Given the description of an element on the screen output the (x, y) to click on. 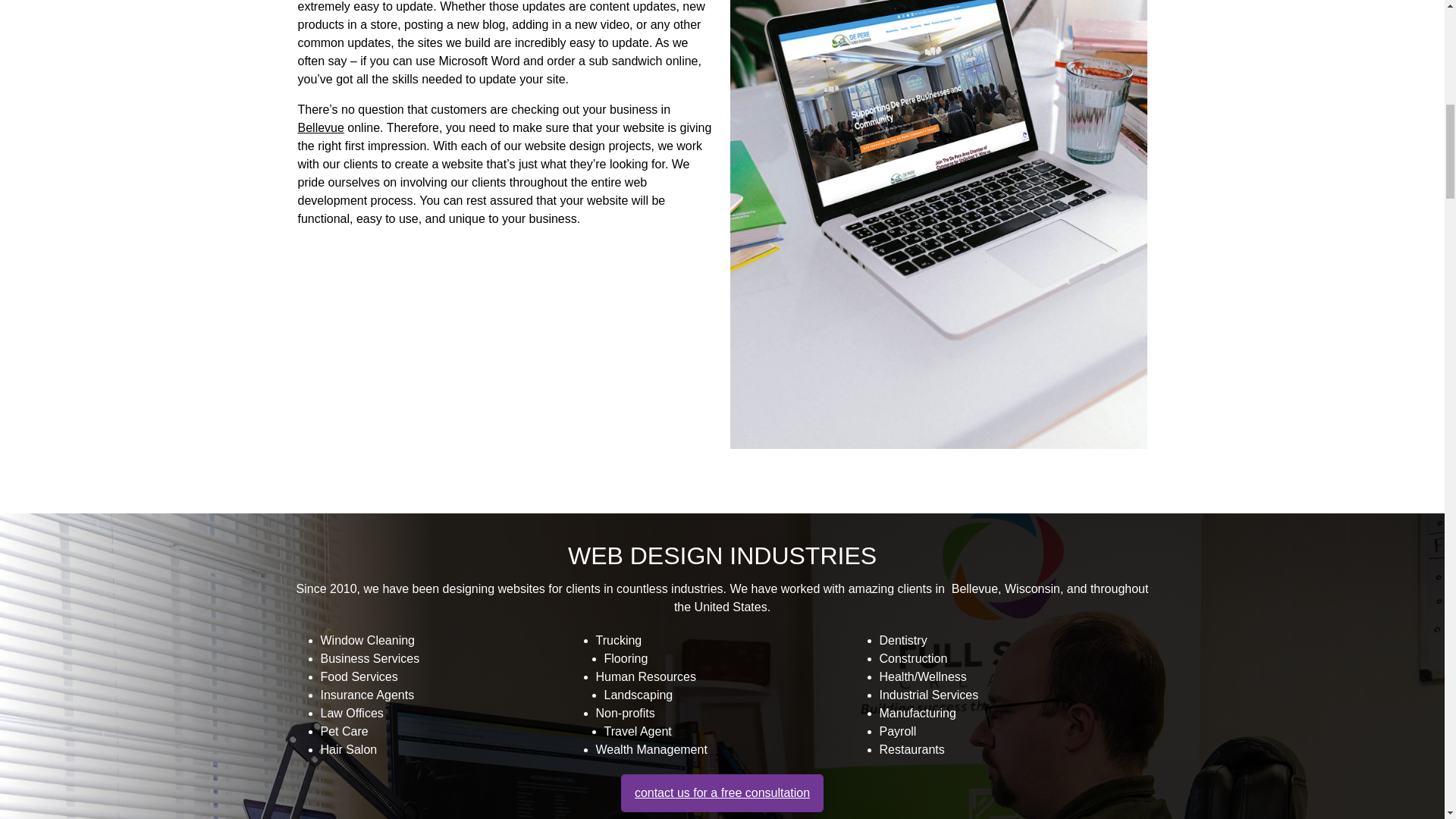
contact us for a free consultation (722, 792)
Bellevue (320, 127)
